Given the description of an element on the screen output the (x, y) to click on. 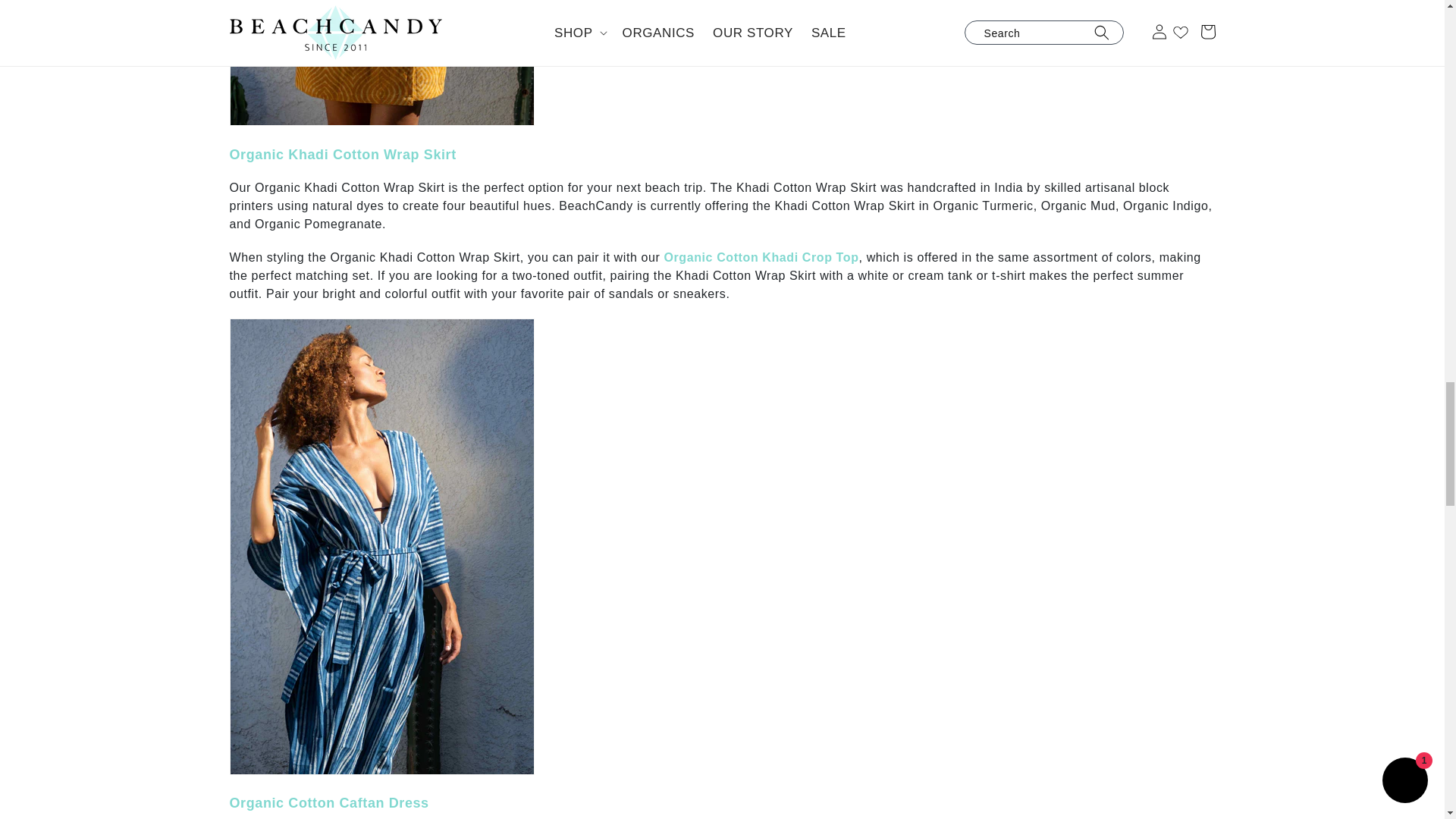
Organic Cotton Caftan Dress (328, 802)
Organic Khadi Cotton Crop Top (761, 256)
Organic Khadi Cotton Wrap Skirt (341, 154)
